Given the description of an element on the screen output the (x, y) to click on. 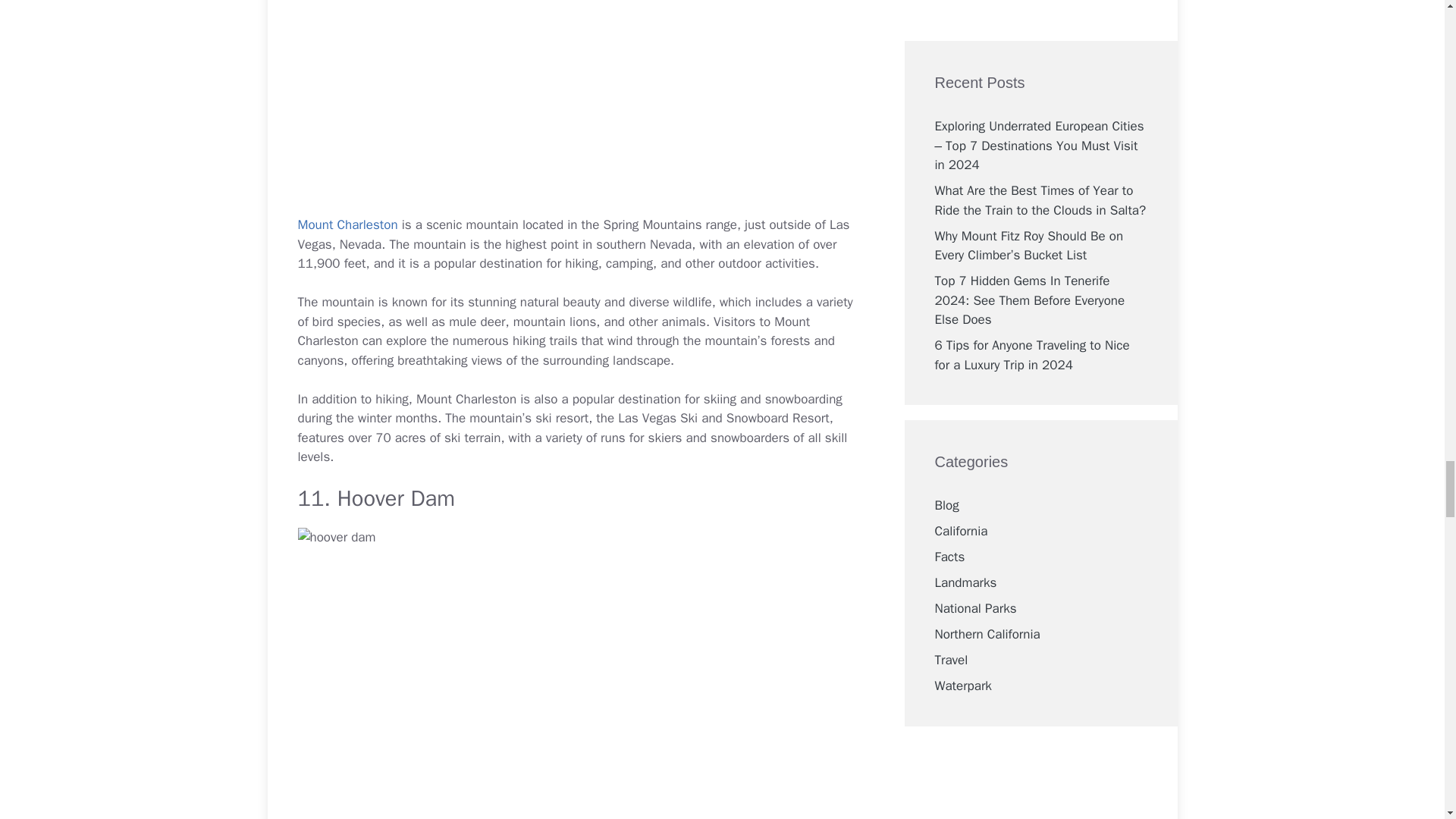
Mount Charleston (347, 224)
